Given the description of an element on the screen output the (x, y) to click on. 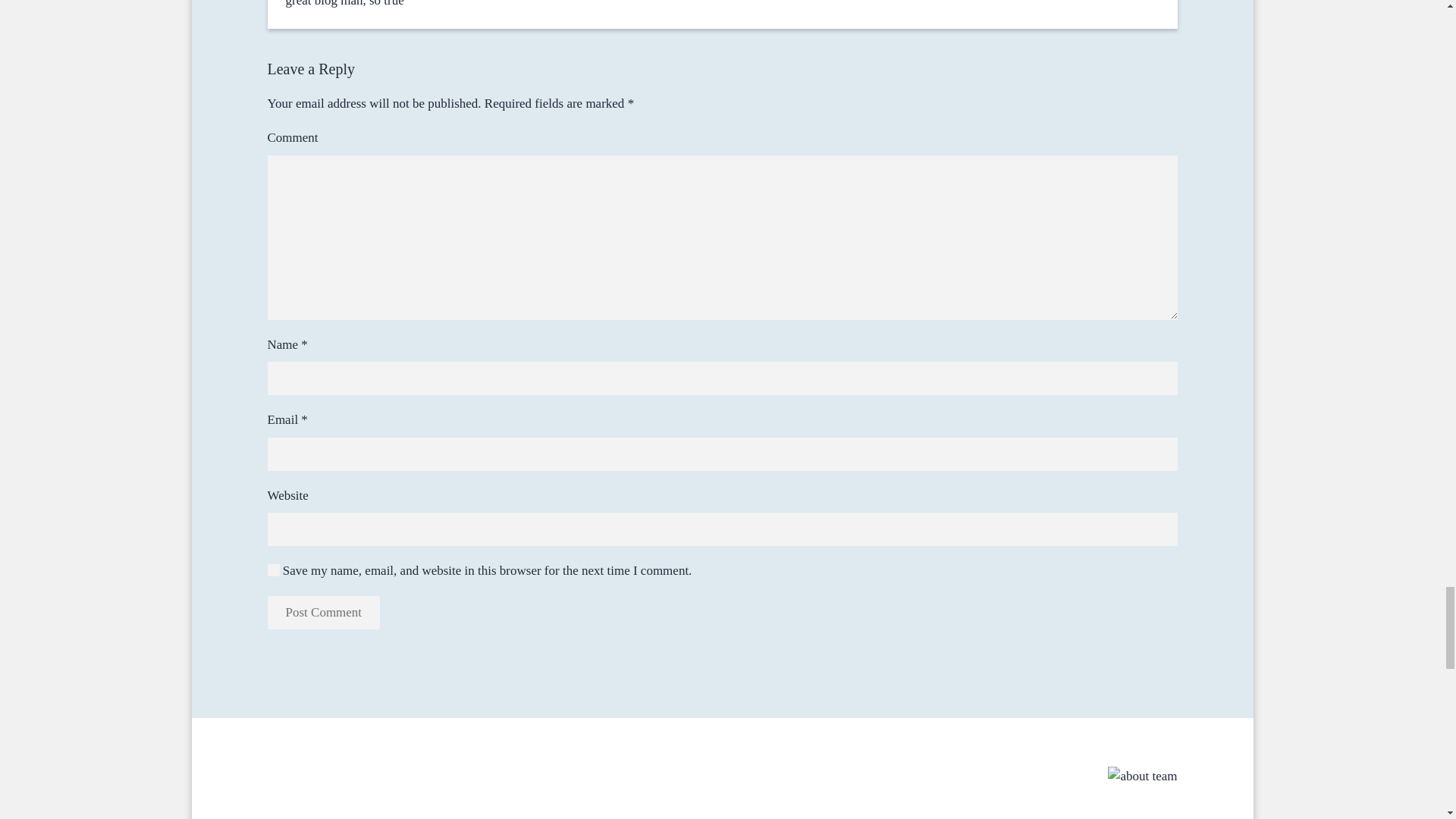
yes (272, 570)
